Given the description of an element on the screen output the (x, y) to click on. 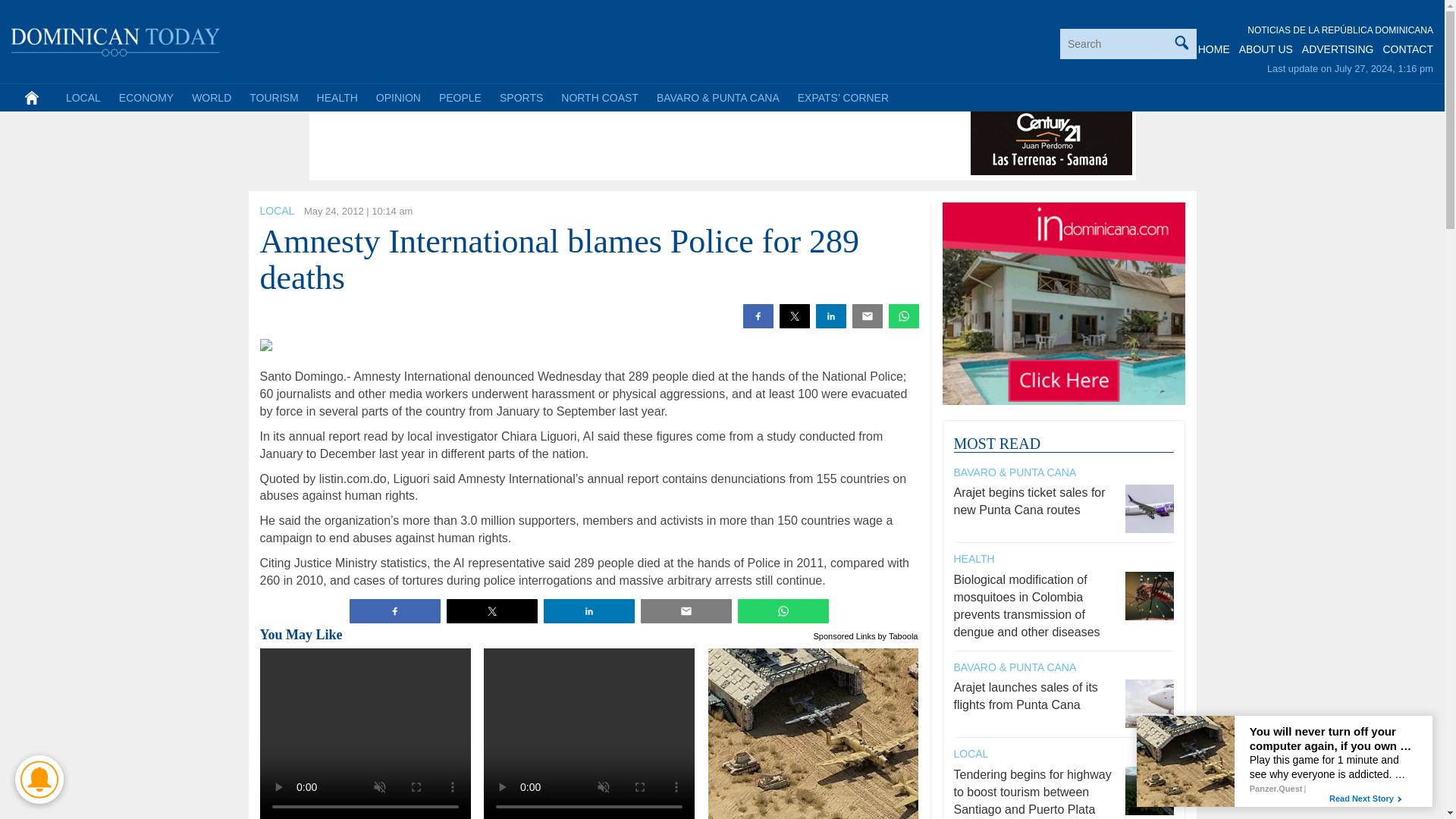
Dominican Today News - Santo Domingo and Dominican Republic (116, 38)
NORTH COAST (599, 97)
ECONOMY (146, 97)
LOCAL (83, 97)
OPINION (397, 97)
TOURISM (273, 97)
CONTACT (1406, 49)
Sponsored Links (844, 634)
LOCAL (276, 210)
PEOPLE (459, 97)
ABOUT US (1265, 49)
WORLD (211, 97)
SPORTS (520, 97)
HOME (1214, 49)
